Given the description of an element on the screen output the (x, y) to click on. 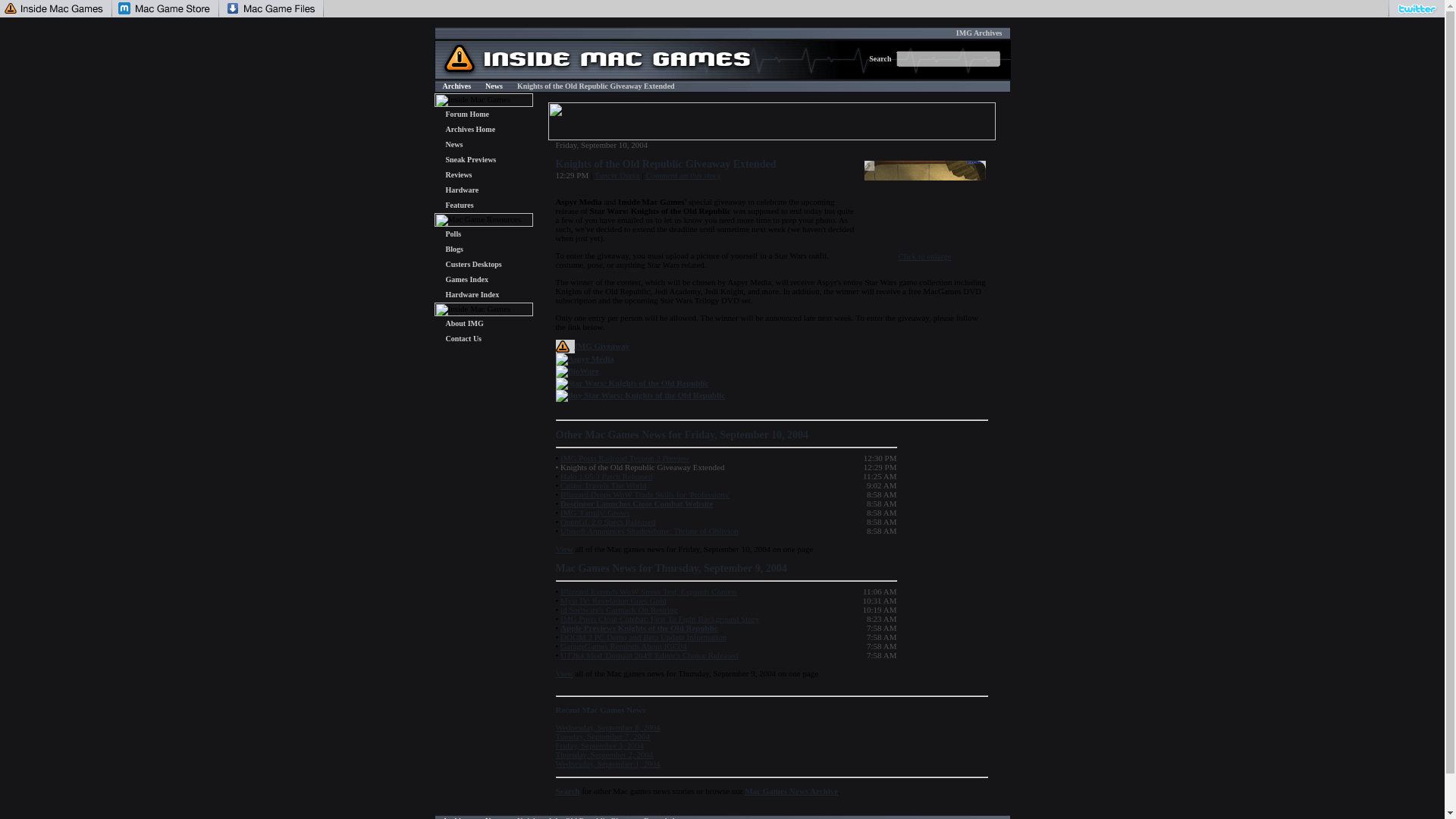
News (454, 144)
OpenGL 2.0 Specs Released (607, 521)
Blogs (454, 248)
IMG Giveaway (601, 345)
Hardware (462, 189)
About IMG (464, 323)
Sneak Previews (470, 159)
Forum Home (467, 113)
Click to enlarge (924, 252)
IMG 'Family' Grows (594, 511)
Hardware Index (472, 294)
Games Index (466, 279)
BioWare (582, 370)
Blizzard Extends WoW Stress Test, Expands Contest (648, 591)
Star Wars: Knights of the Old Republic (637, 382)
